Given the description of an element on the screen output the (x, y) to click on. 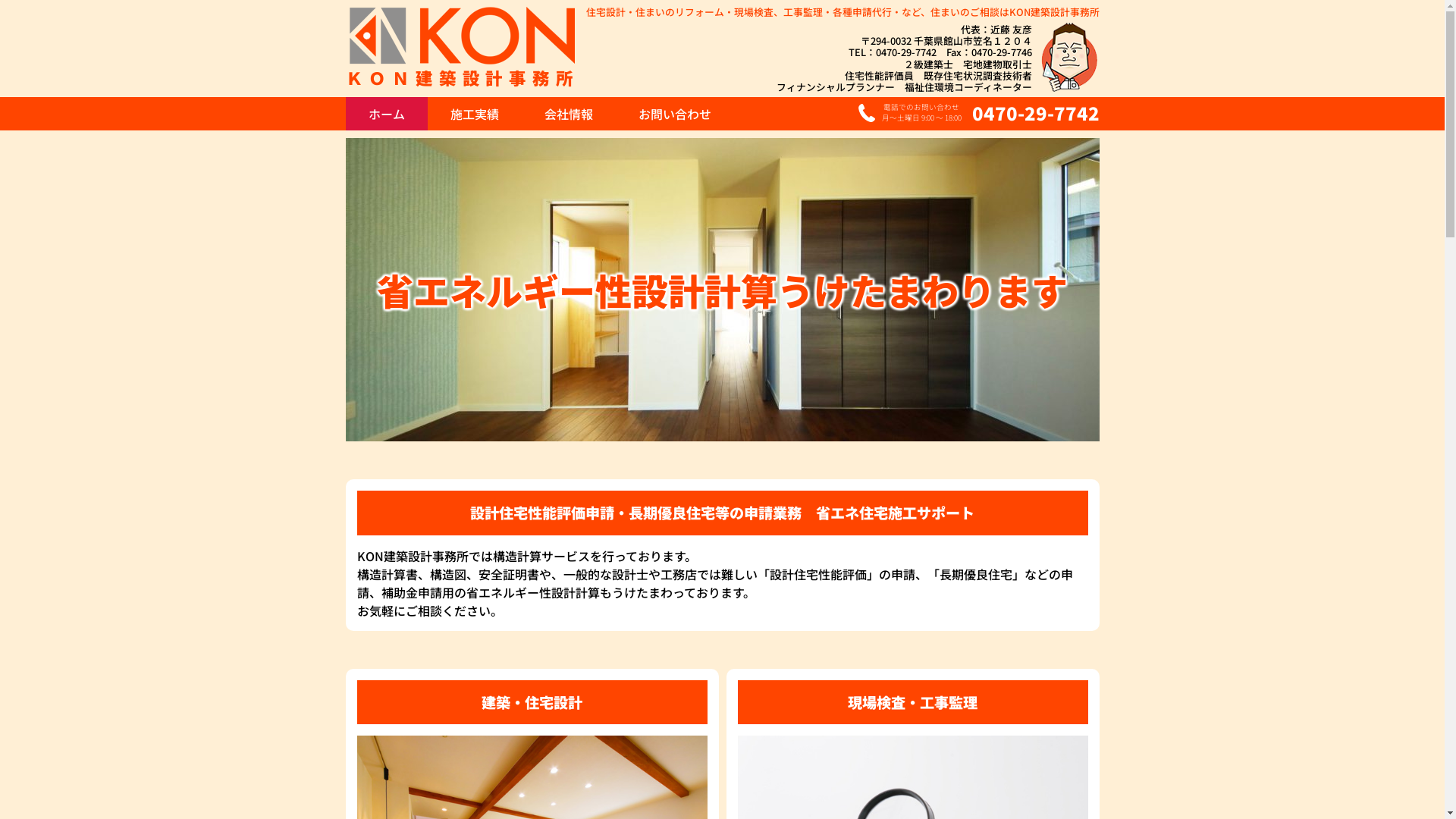
0470-29-7742 Element type: text (905, 51)
